Given the description of an element on the screen output the (x, y) to click on. 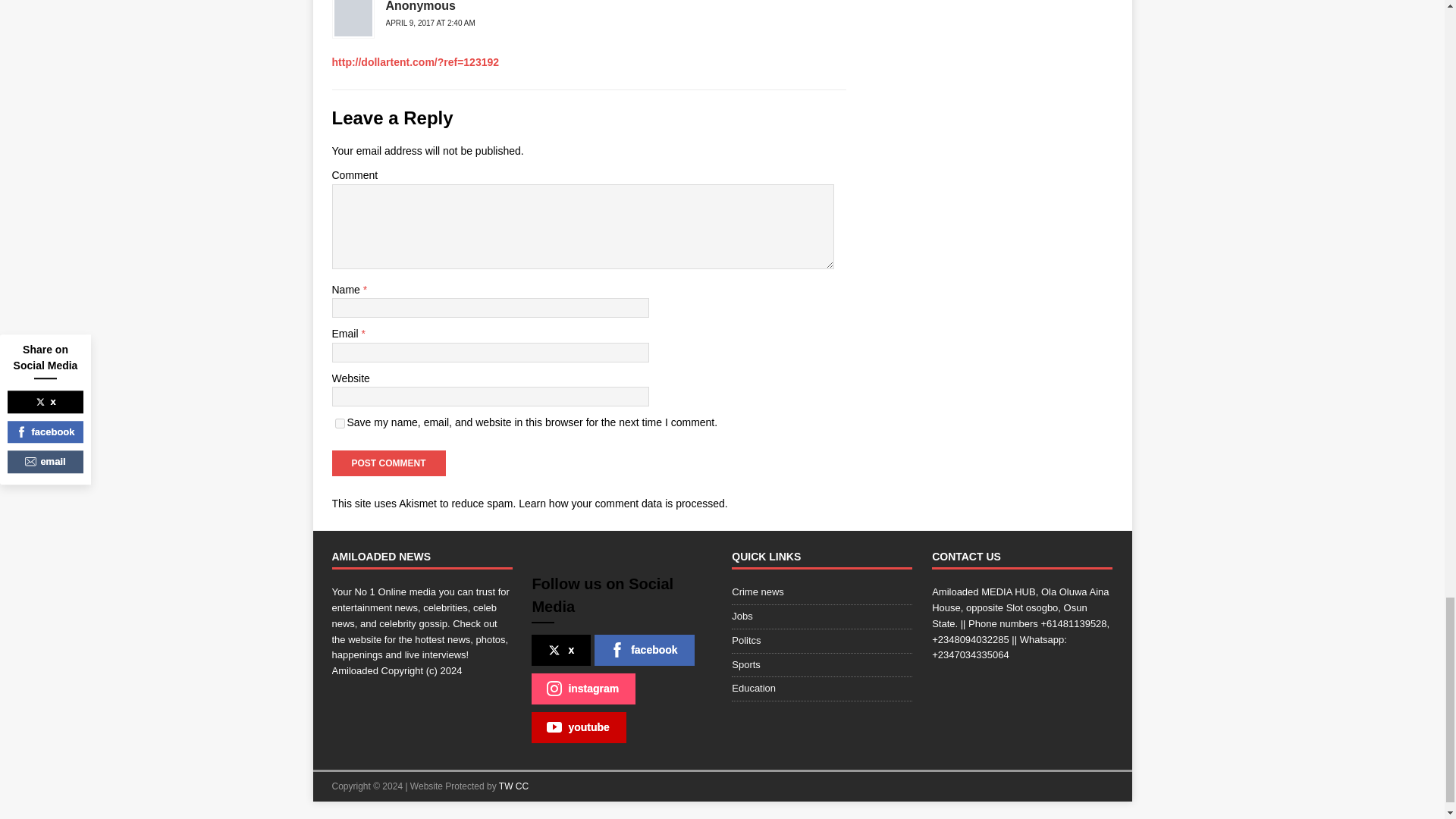
APRIL 9, 2017 AT 2:40 AM (429, 22)
Post Comment (388, 462)
Learn how your comment data is processed (621, 503)
yes (339, 423)
Post Comment (388, 462)
